Given the description of an element on the screen output the (x, y) to click on. 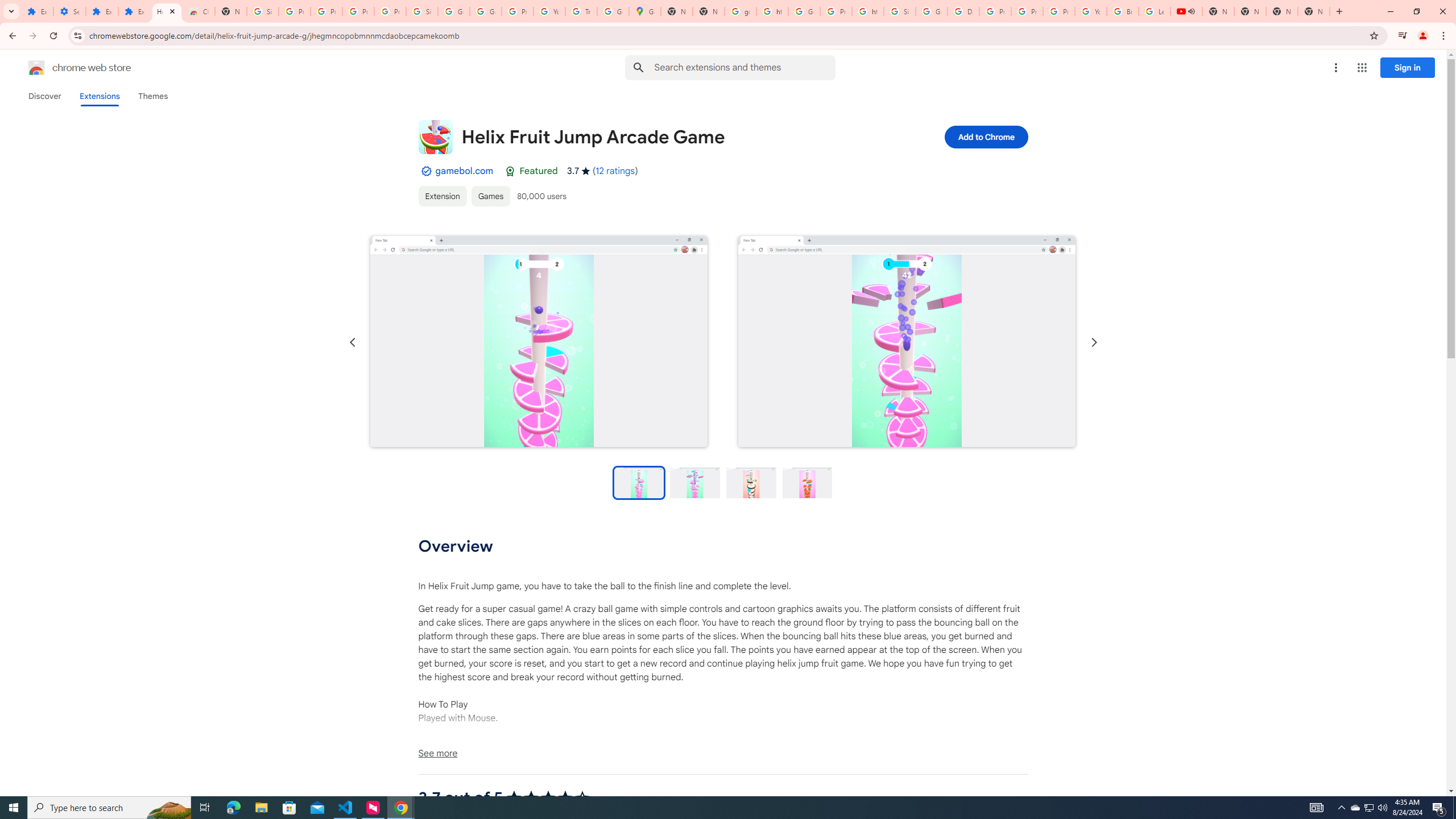
https://scholar.google.com/ (772, 11)
Item media 1 screenshot (538, 342)
Privacy Help Center - Policies Help (995, 11)
Sign in - Google Accounts (262, 11)
Preview slide 4 (807, 482)
Privacy Help Center - Policies Help (1027, 11)
Preview slide 3 (751, 482)
gamebol.com (464, 170)
Google Maps (644, 11)
See more (722, 753)
